Given the description of an element on the screen output the (x, y) to click on. 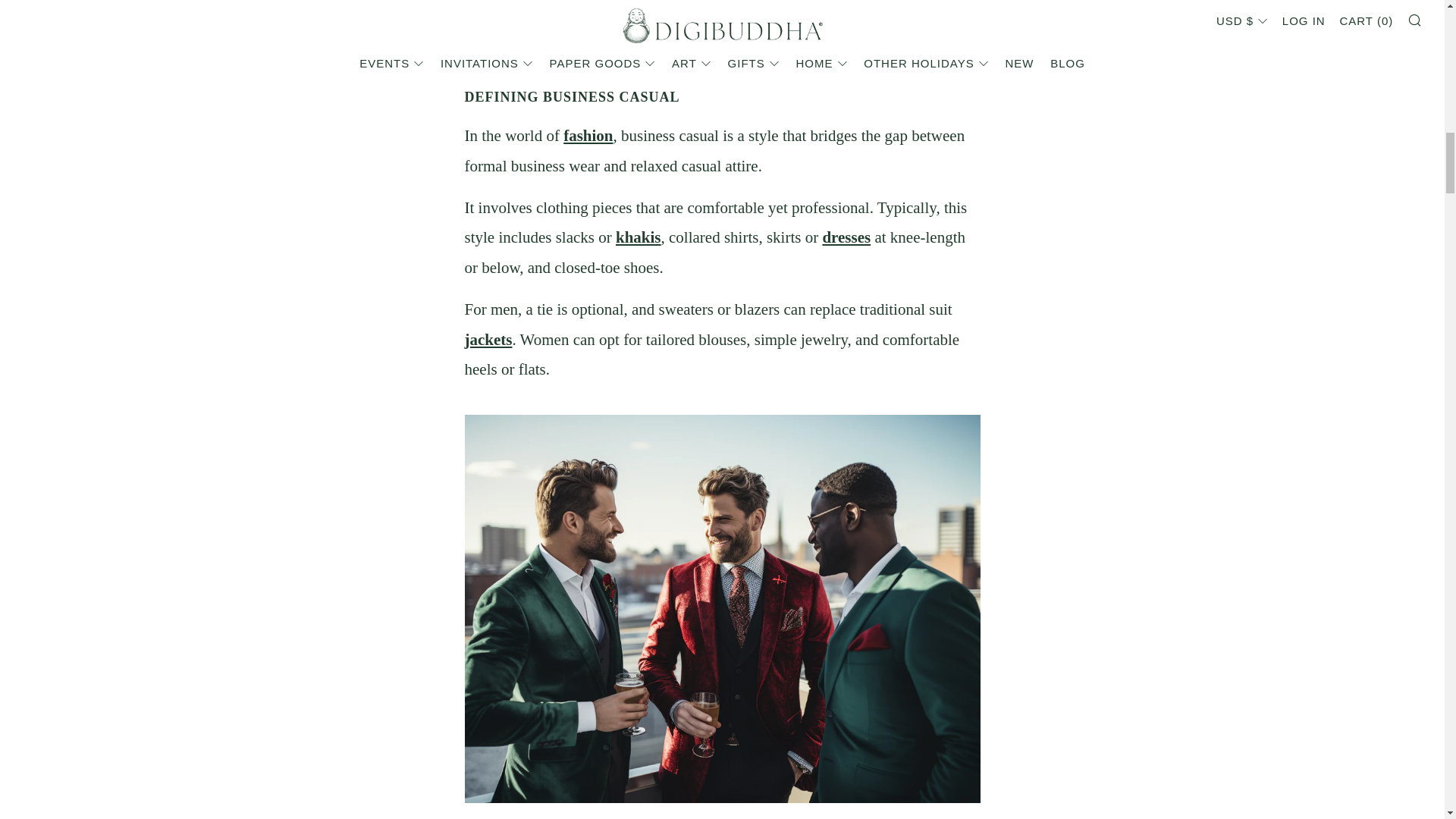
Tommy Hilfiger Women's Mini Houndstooth Knit Dress (846, 237)
Women's Long Sleeve Cropped Tweed Jacket with Pocket (488, 339)
YouTube video player (721, 33)
